Given the description of an element on the screen output the (x, y) to click on. 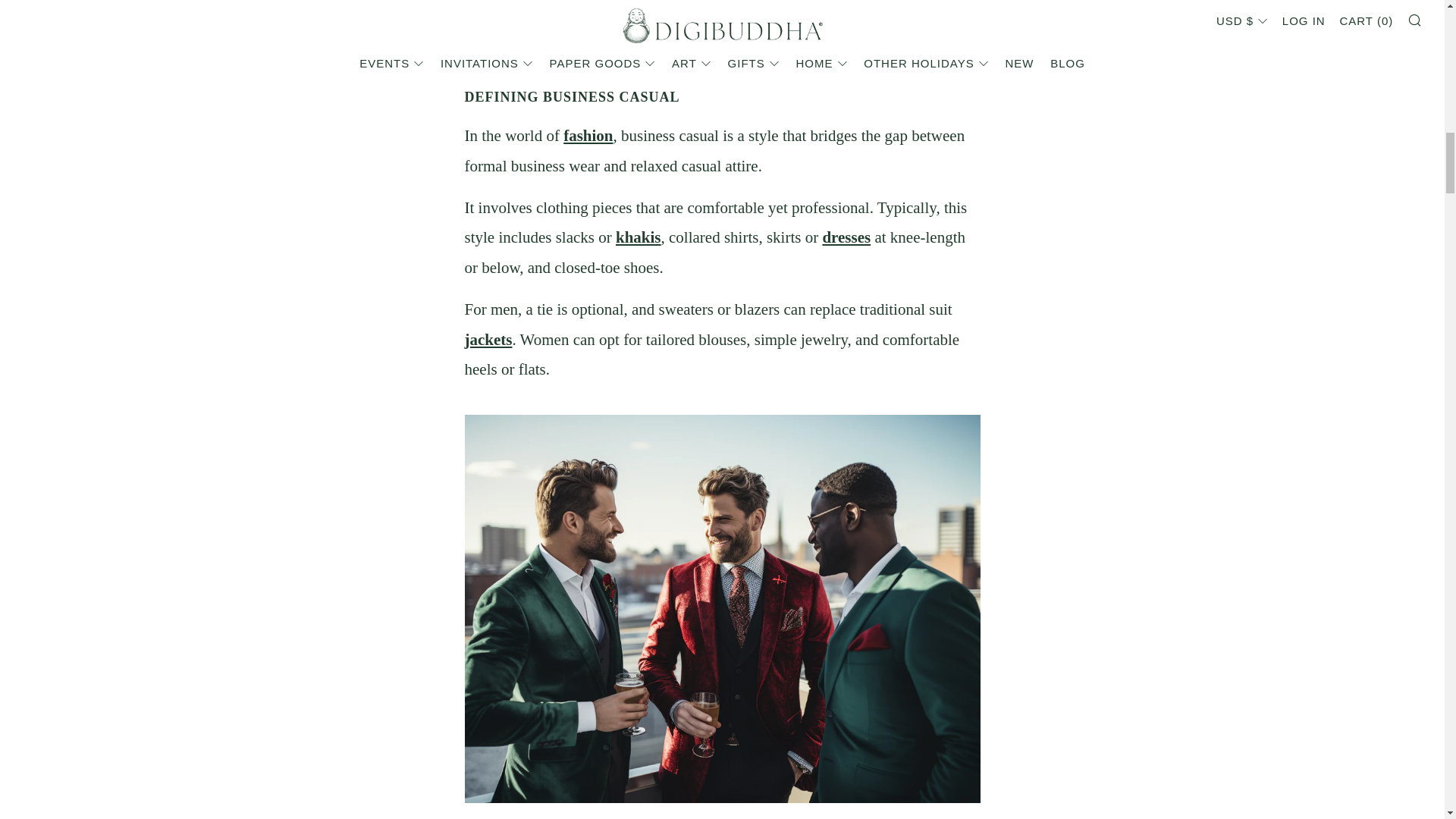
Tommy Hilfiger Women's Mini Houndstooth Knit Dress (846, 237)
Women's Long Sleeve Cropped Tweed Jacket with Pocket (488, 339)
YouTube video player (721, 33)
